Given the description of an element on the screen output the (x, y) to click on. 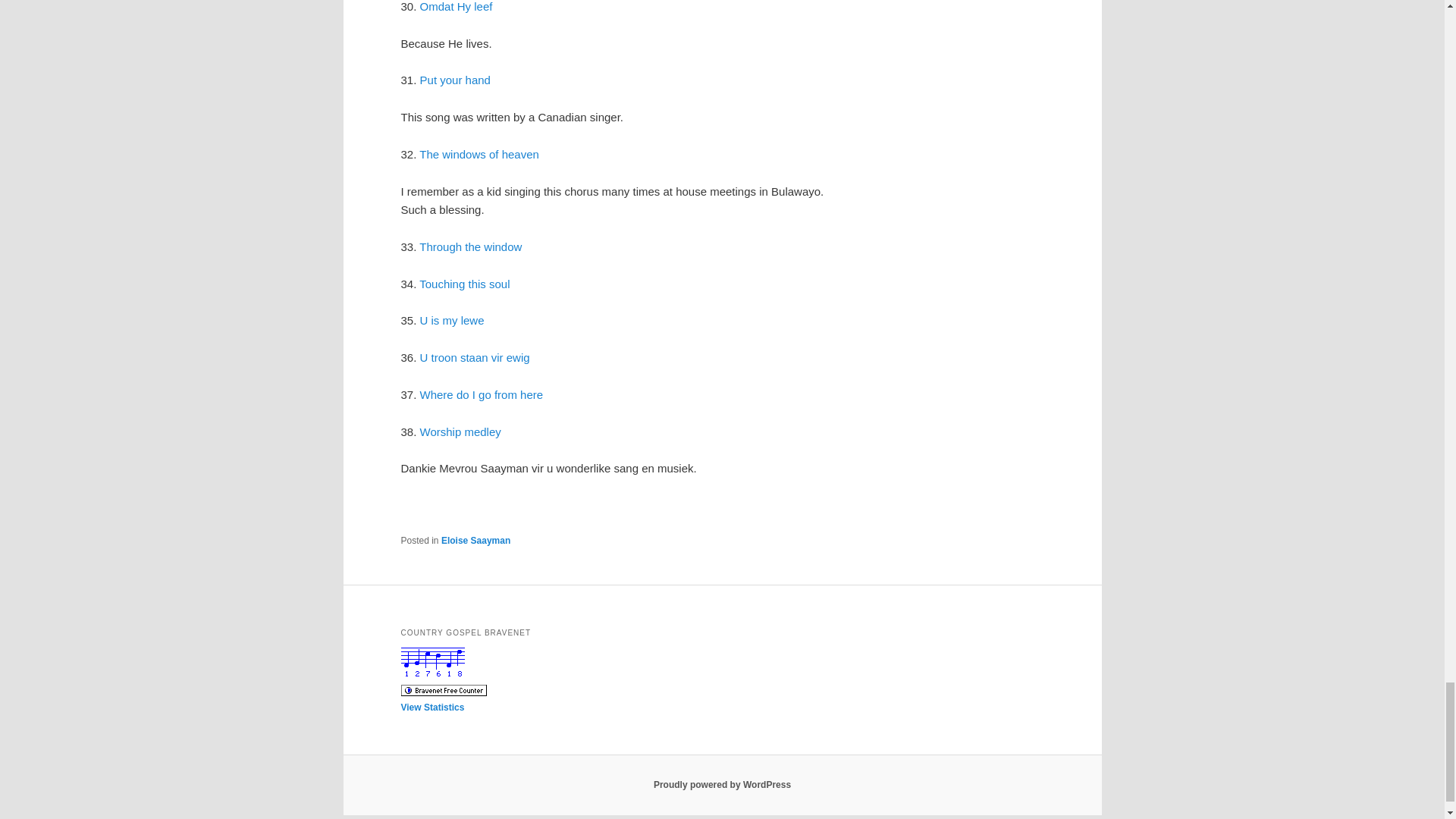
Bravenet Counter Stats (432, 660)
Semantic Personal Publishing Platform (721, 784)
